Given the description of an element on the screen output the (x, y) to click on. 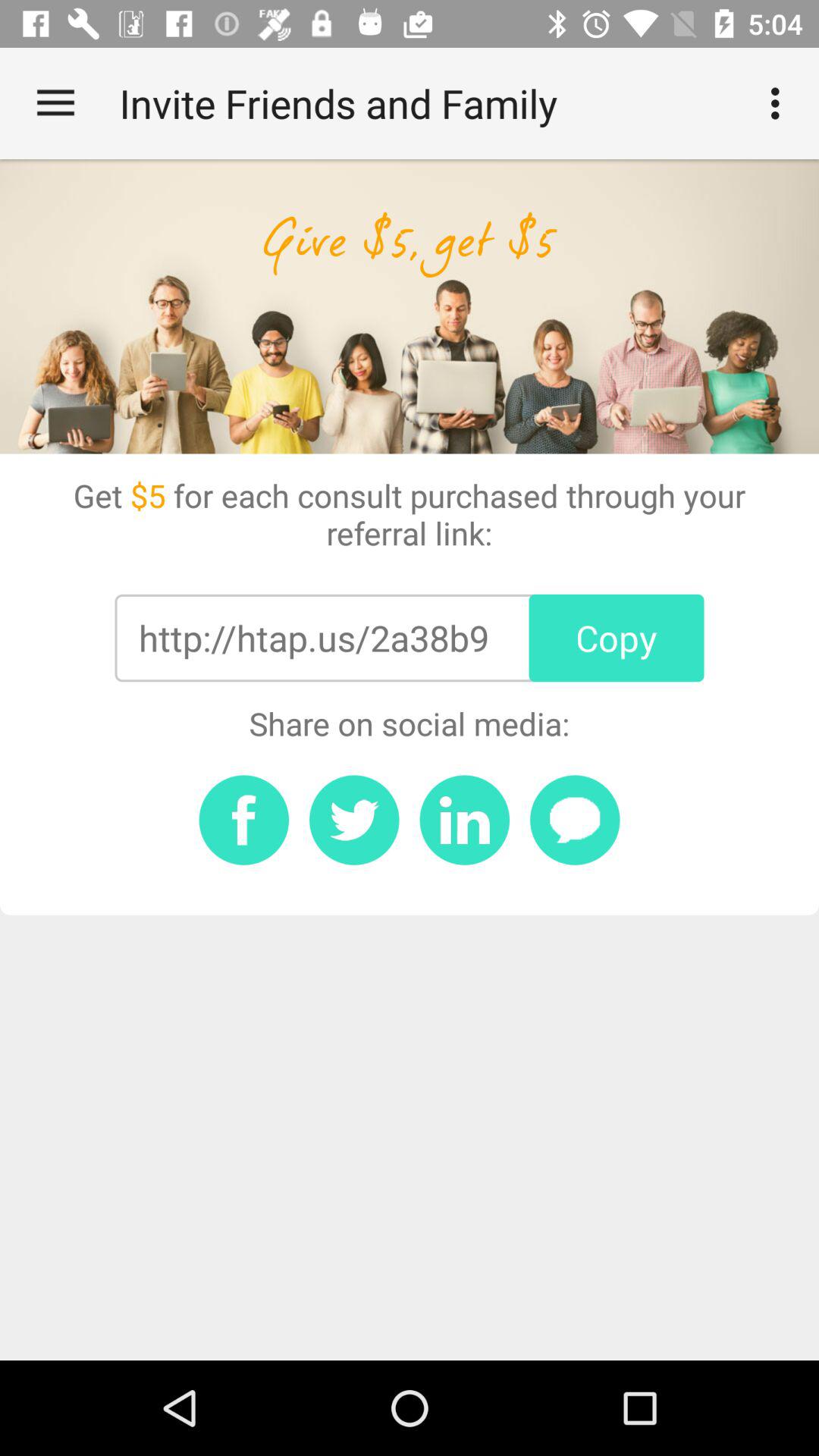
tap item next to http htap us item (616, 637)
